Given the description of an element on the screen output the (x, y) to click on. 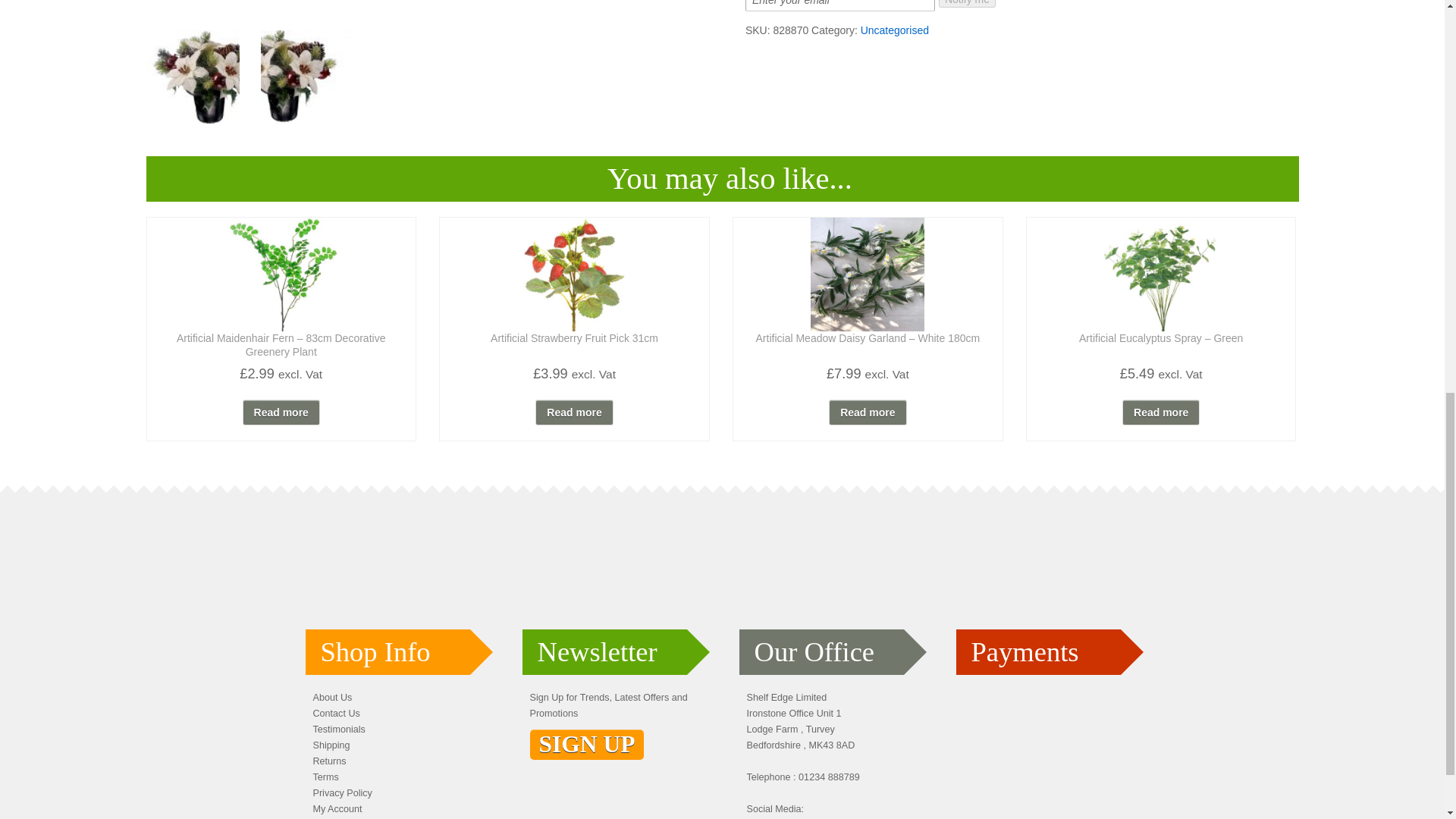
Luxury-White-Poinsettia-Christmas-Crem-Pot.jpg (306, 76)
Luxury-Crem-Pot-with-Poinsettias-Fruit-and-Cones.jpg (421, 4)
Grave-Tribute-Crem-Pot-with-White-Poinsettia-Flowers.jpg (191, 76)
